Given the description of an element on the screen output the (x, y) to click on. 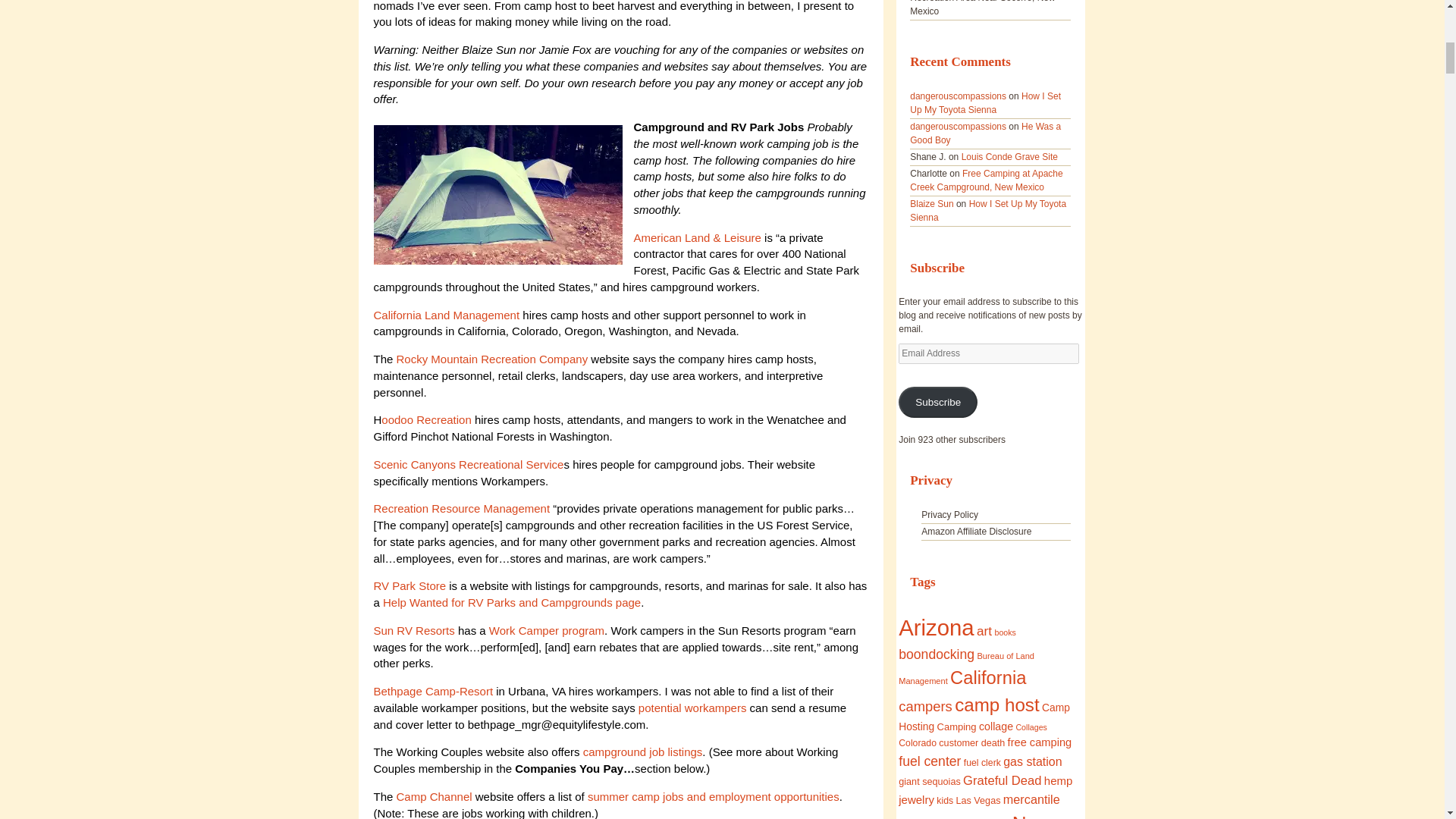
California Land Management (445, 314)
Bethpage Camp-Resort (432, 690)
campground job listings (641, 751)
Sun RV Resorts (413, 630)
Recreation Resource Management (462, 508)
Camp Channel (433, 796)
Work Camper program (546, 630)
potential workampers (694, 707)
summer camp jobs and employment opportunities (714, 796)
Help Wanted for RV Parks and Campgrounds page (510, 602)
